Given the description of an element on the screen output the (x, y) to click on. 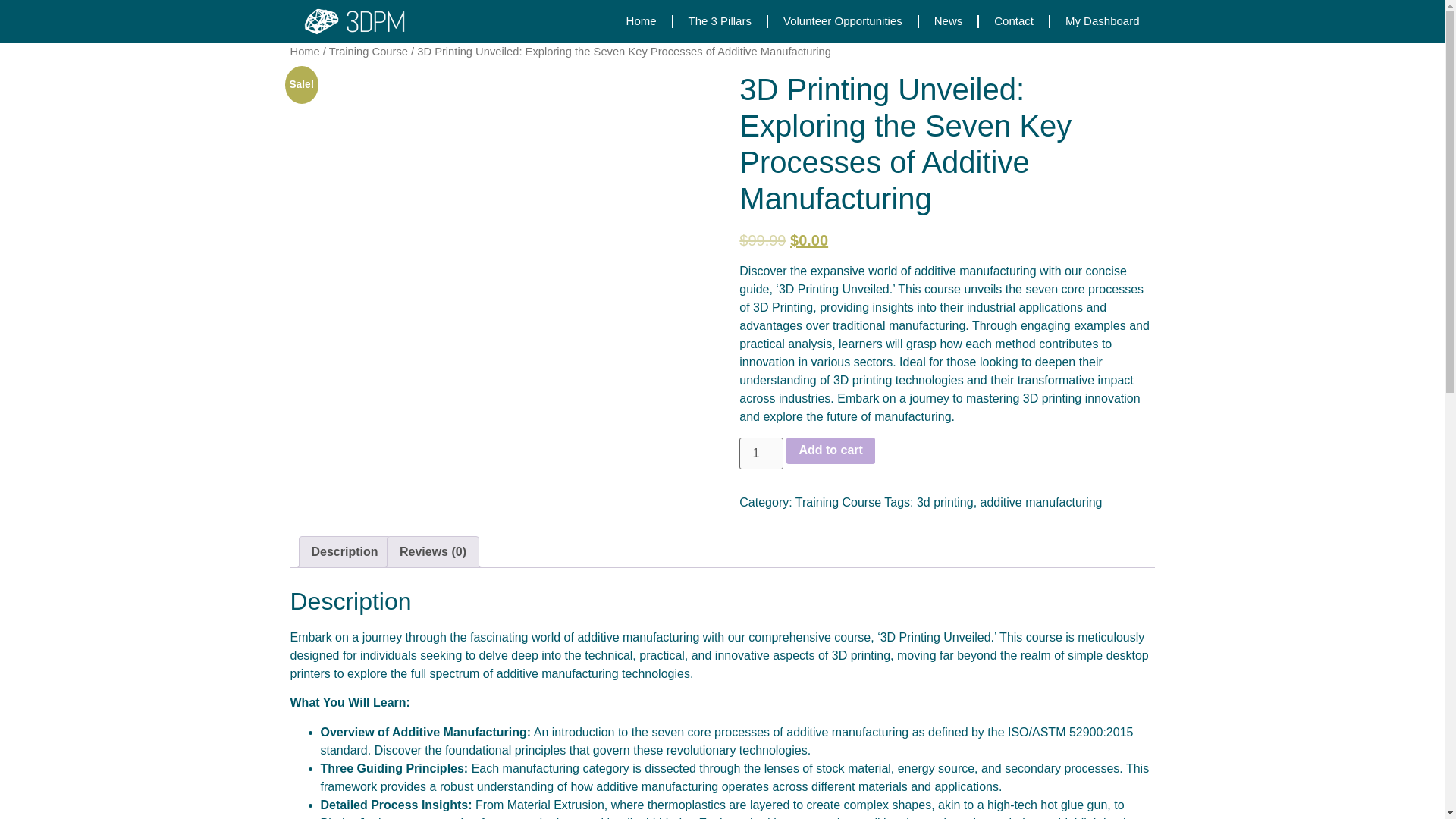
Training Course (368, 51)
Add to cart (830, 451)
The 3 Pillars (719, 21)
News (948, 21)
Volunteer Opportunities (842, 21)
Description (344, 552)
3d printing (945, 502)
Contact (1013, 21)
Training Course (837, 502)
Home (641, 21)
